Given the description of an element on the screen output the (x, y) to click on. 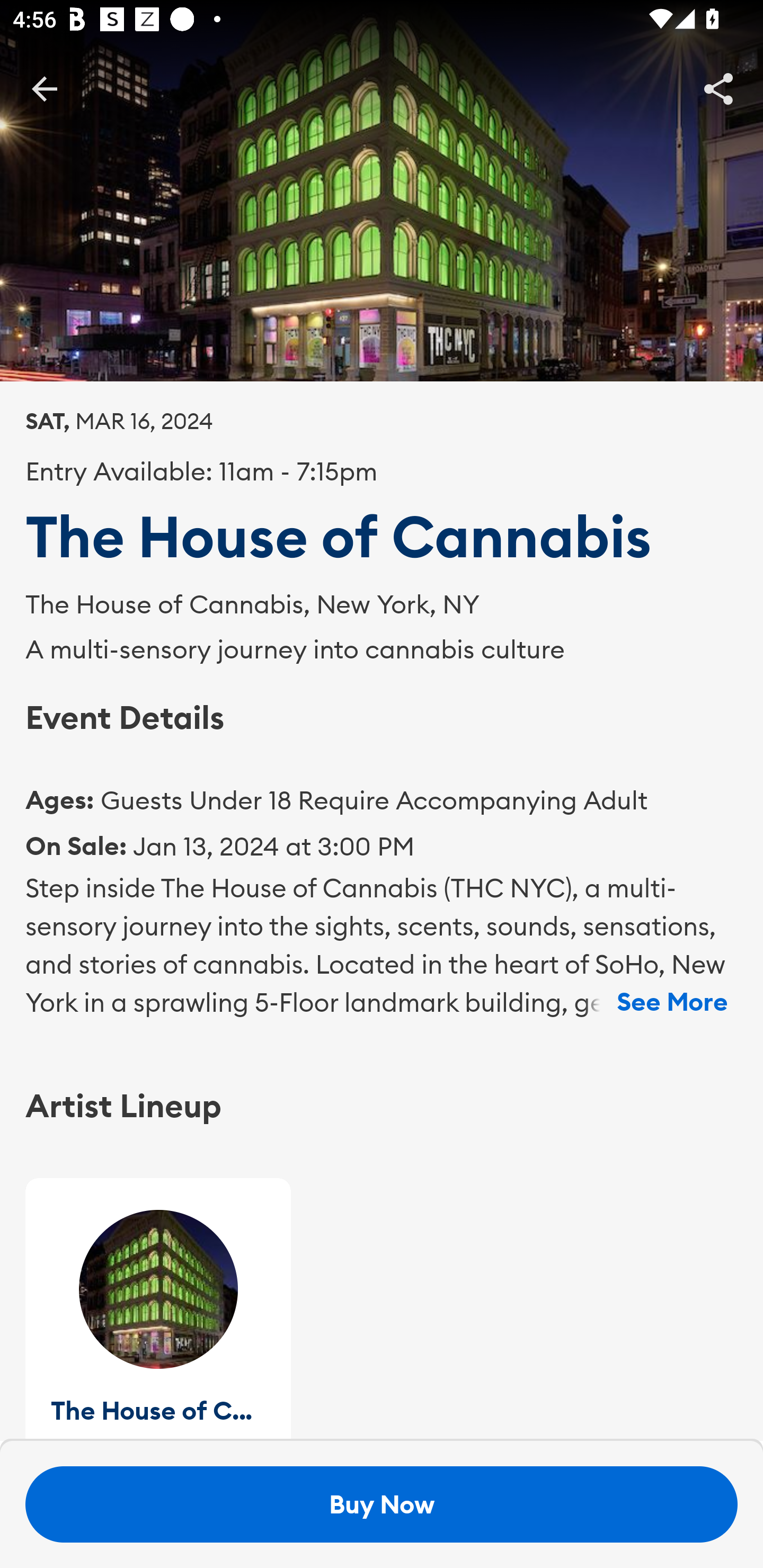
BackButton (44, 88)
Share (718, 88)
See More (671, 1002)
The House of Cannabis (157, 1308)
Buy Now (381, 1504)
